Given the description of an element on the screen output the (x, y) to click on. 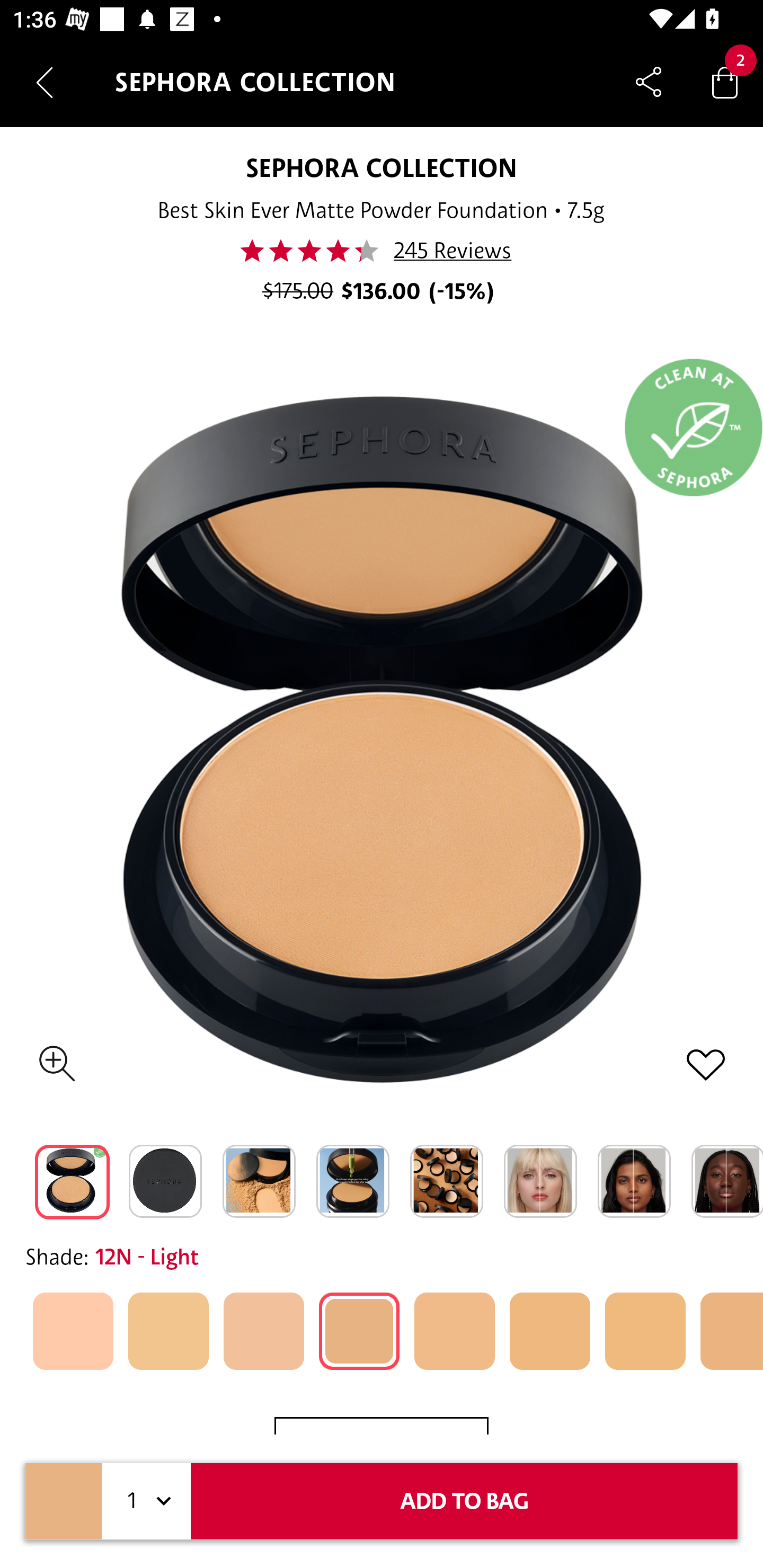
Navigate up (44, 82)
Share (648, 81)
Bag (724, 81)
SEPHORA COLLECTION (380, 167)
43.0 245 Reviews (381, 250)
1 (145, 1500)
ADD TO BAG (463, 1500)
